Given the description of an element on the screen output the (x, y) to click on. 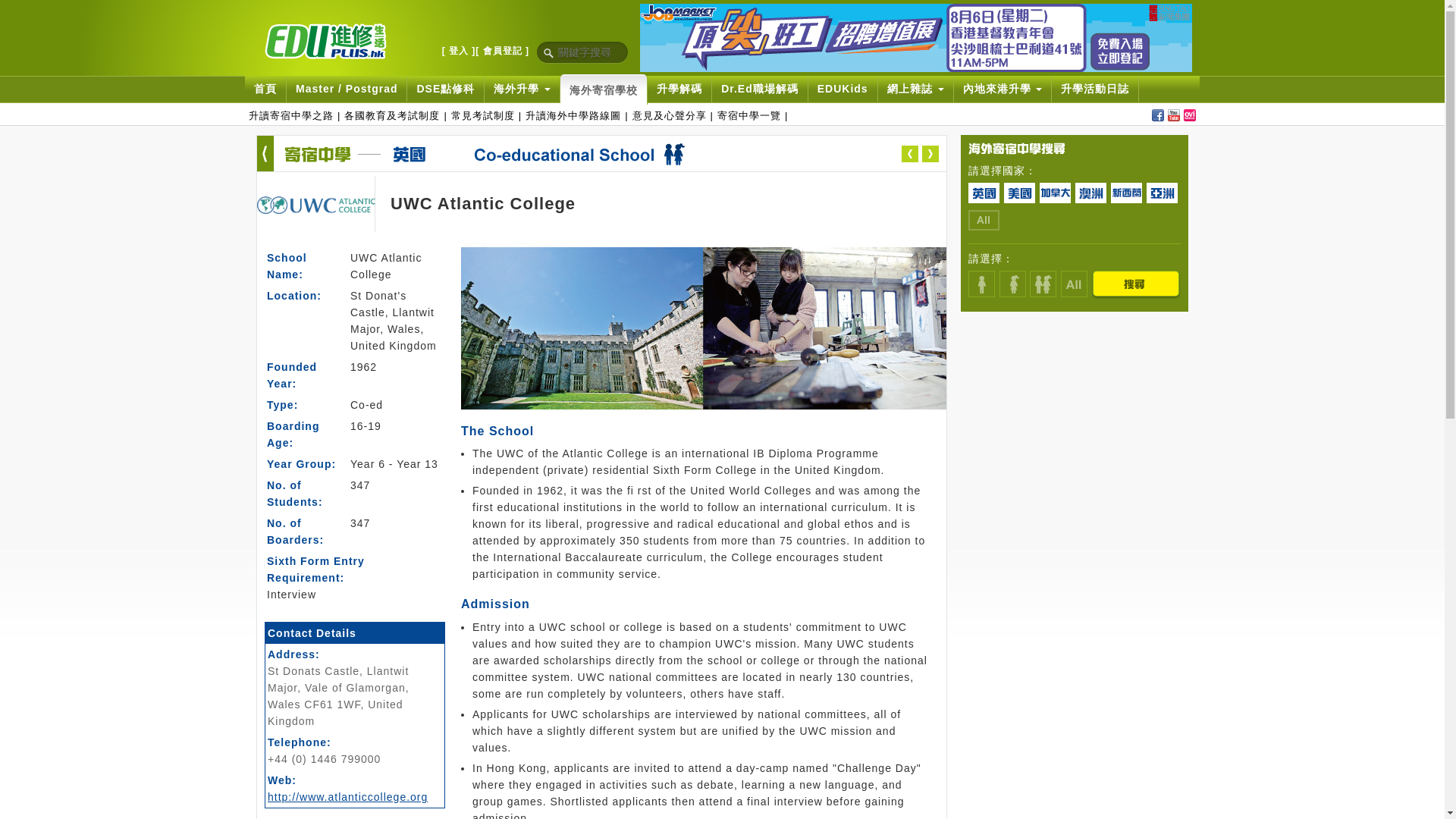
EDUKids (842, 88)
Advertisement (1074, 413)
Advertisement (1074, 614)
